Given the description of an element on the screen output the (x, y) to click on. 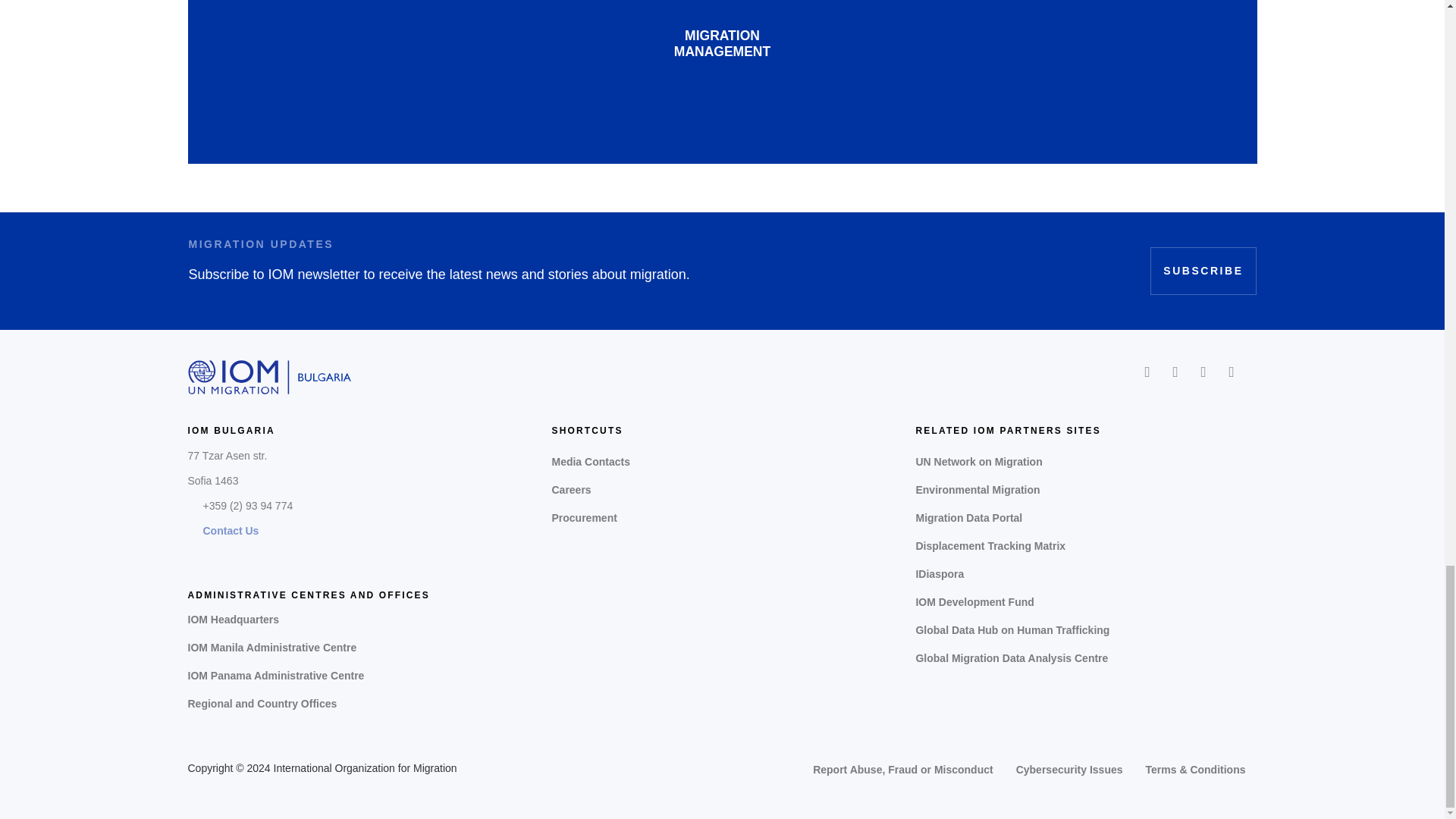
Home (269, 376)
Contact us (231, 530)
SUBSCRIBE (1202, 270)
MIGRATION MANAGEMENT (721, 44)
